Given the description of an element on the screen output the (x, y) to click on. 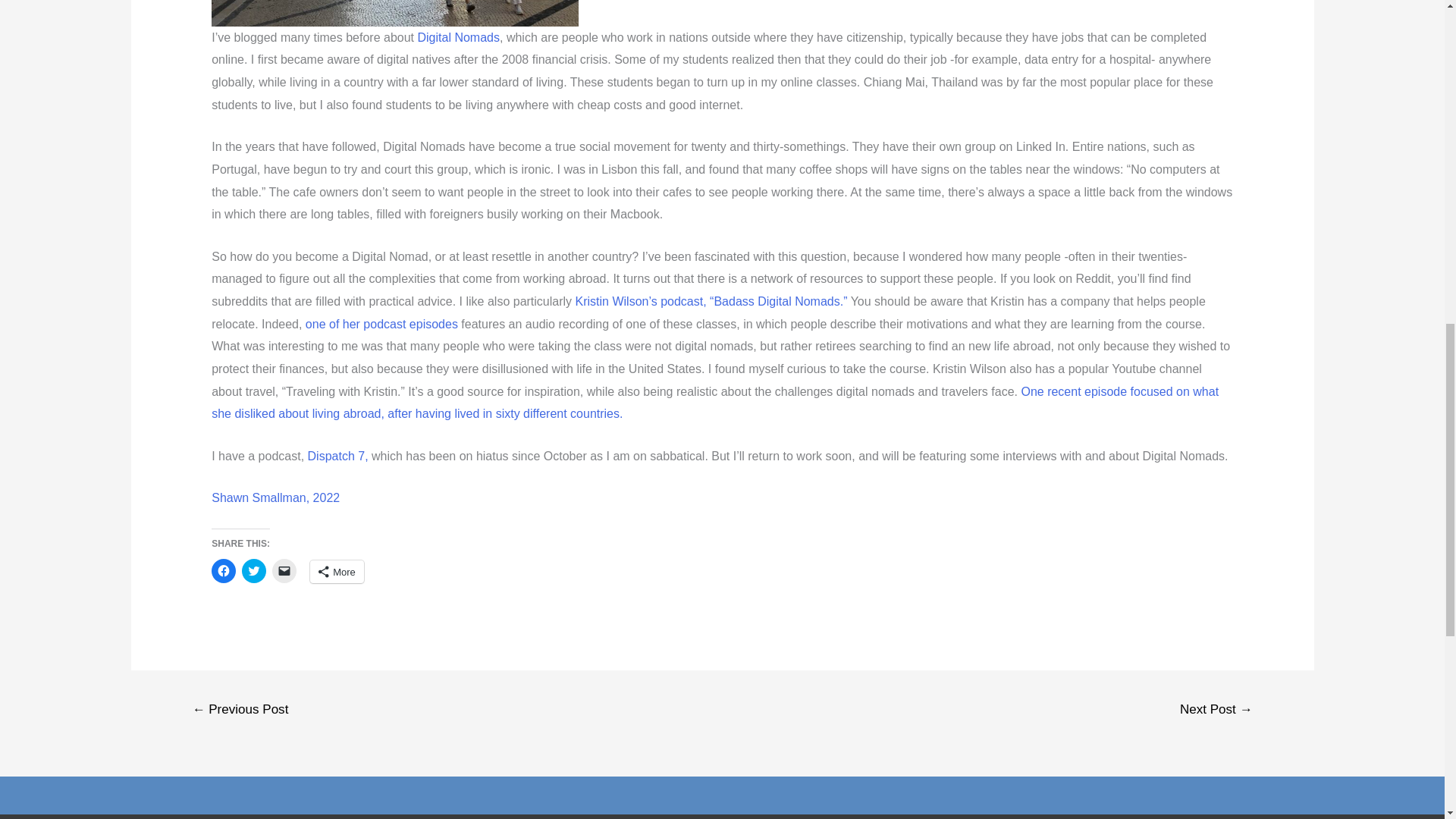
Dispatch 7, (339, 455)
Digital Nomads (457, 37)
one of her podcast episodes (381, 323)
Click to share on Facebook (223, 570)
Click to share on Twitter (253, 570)
More (337, 571)
Click to email a link to a friend (284, 570)
Shawn Smallman, 2022 (275, 497)
